Given the description of an element on the screen output the (x, y) to click on. 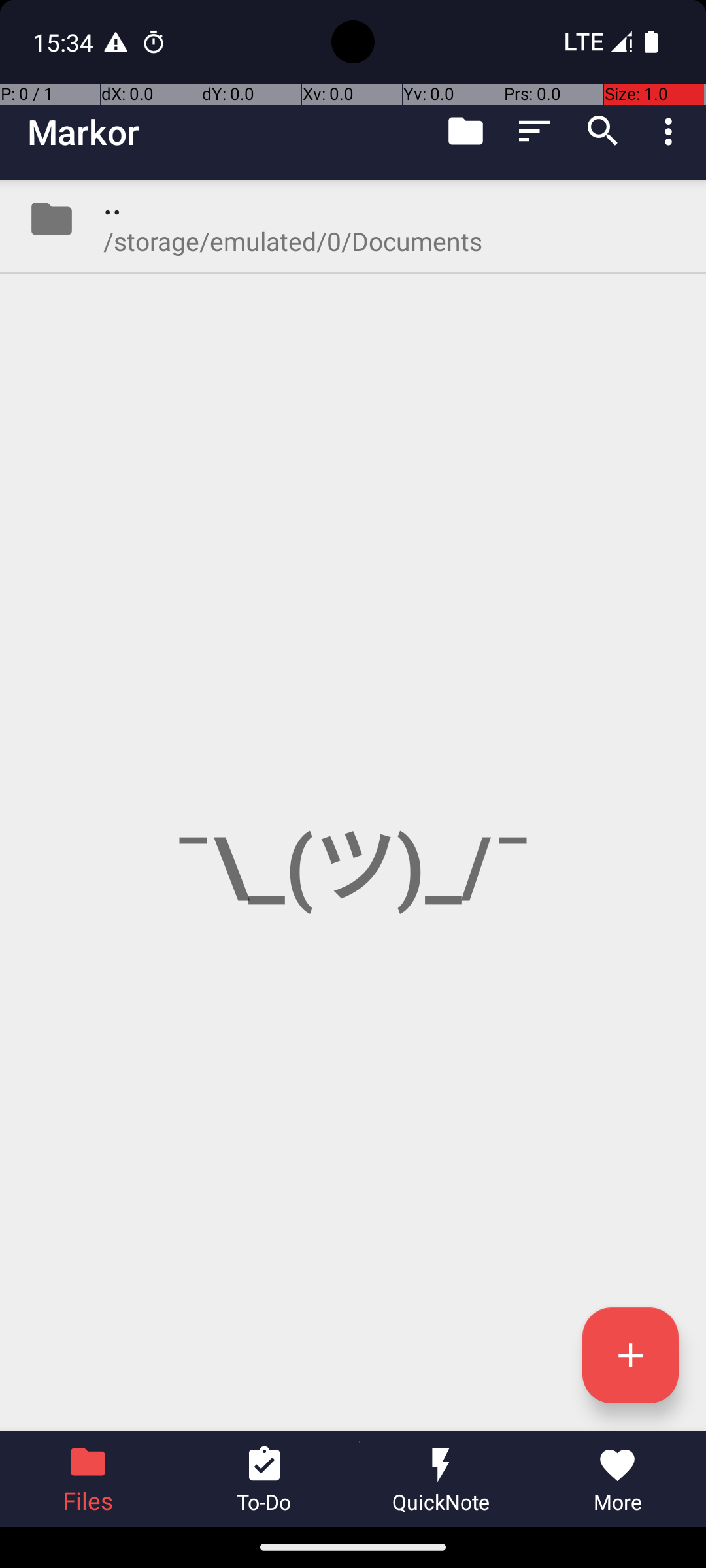
¯\_(ツ)_/¯ Element type: android.widget.TextView (353, 804)
